Given the description of an element on the screen output the (x, y) to click on. 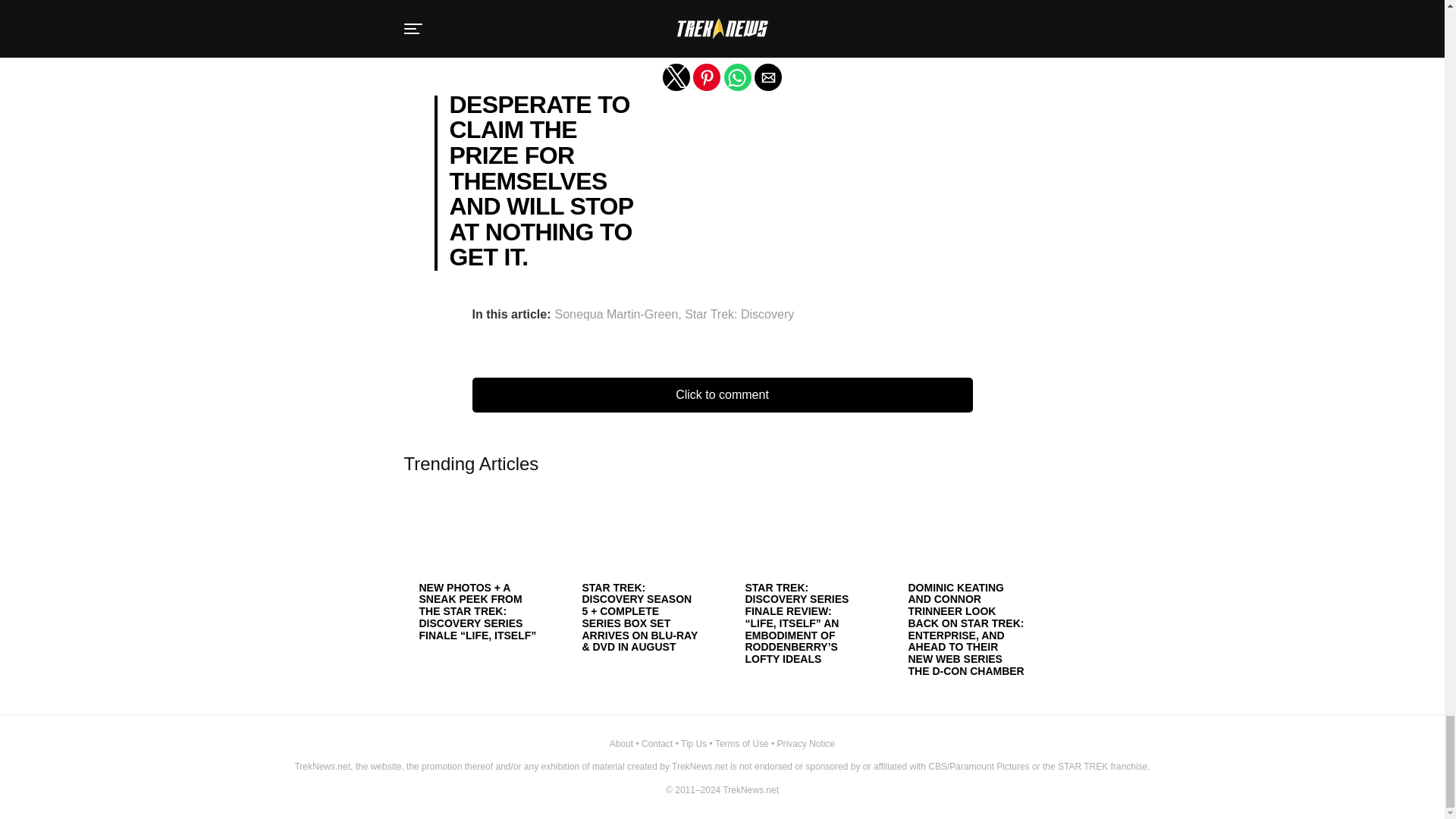
Star Trek: Discovery (738, 314)
Sonequa Martin-Green (616, 314)
Contact (657, 743)
Terms of Use (741, 743)
Privacy Notice (805, 743)
Tip Us (693, 743)
About (621, 743)
